Given the description of an element on the screen output the (x, y) to click on. 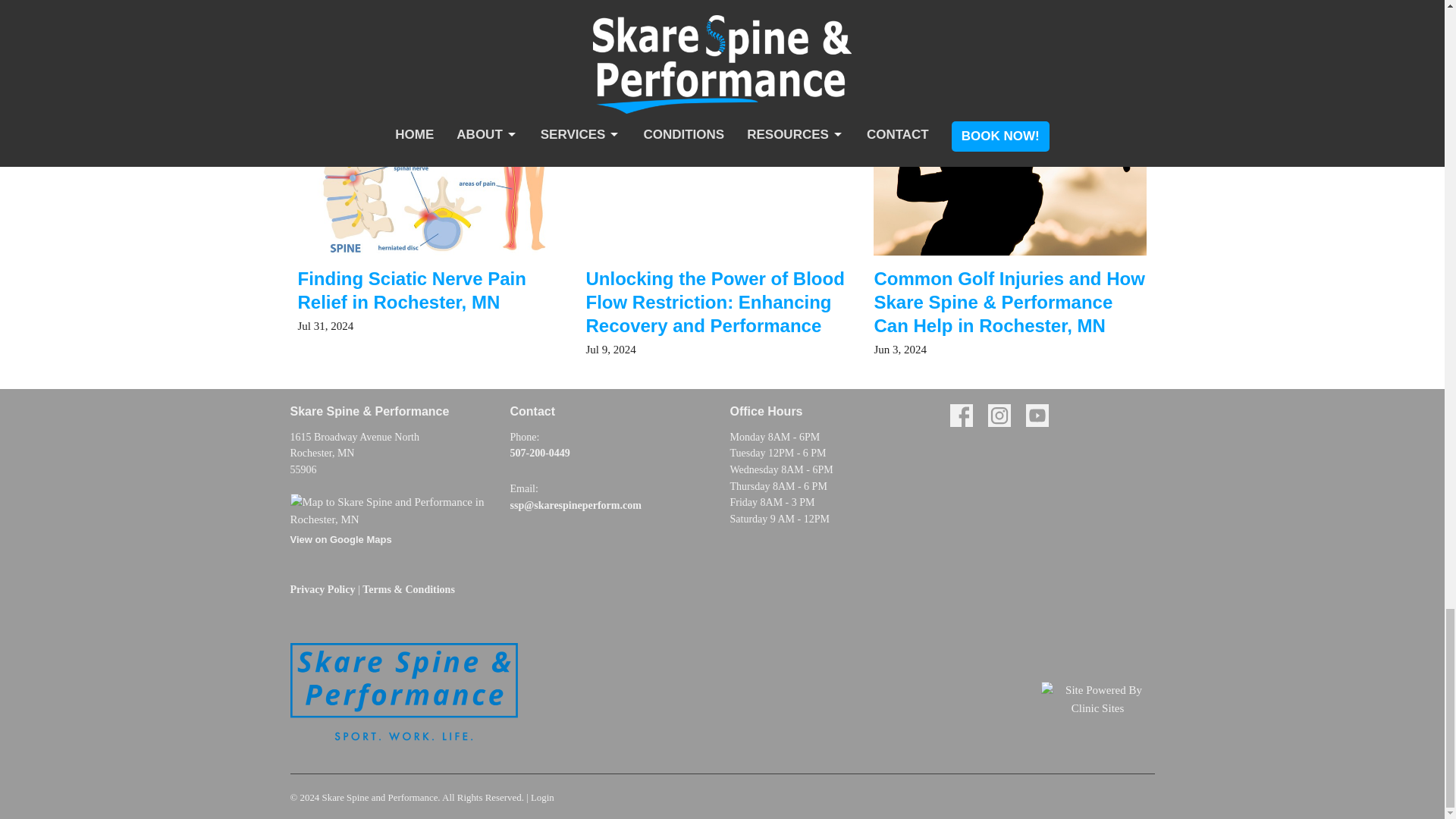
507-200-0449 (539, 452)
View on Google Maps (392, 523)
